Given the description of an element on the screen output the (x, y) to click on. 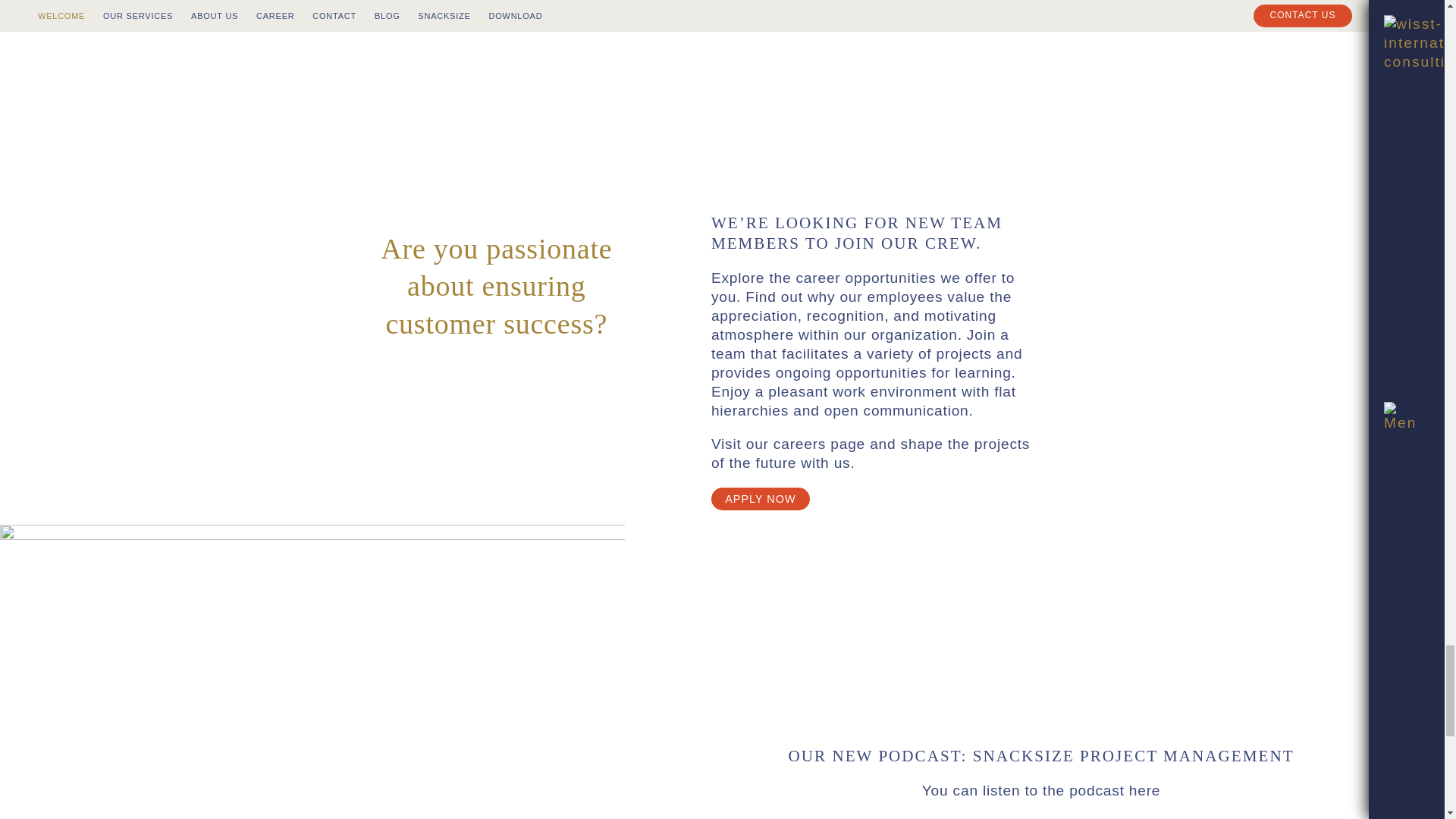
APPLY NOW (759, 499)
Karriere bei Wisst International Consulting (759, 499)
